Given the description of an element on the screen output the (x, y) to click on. 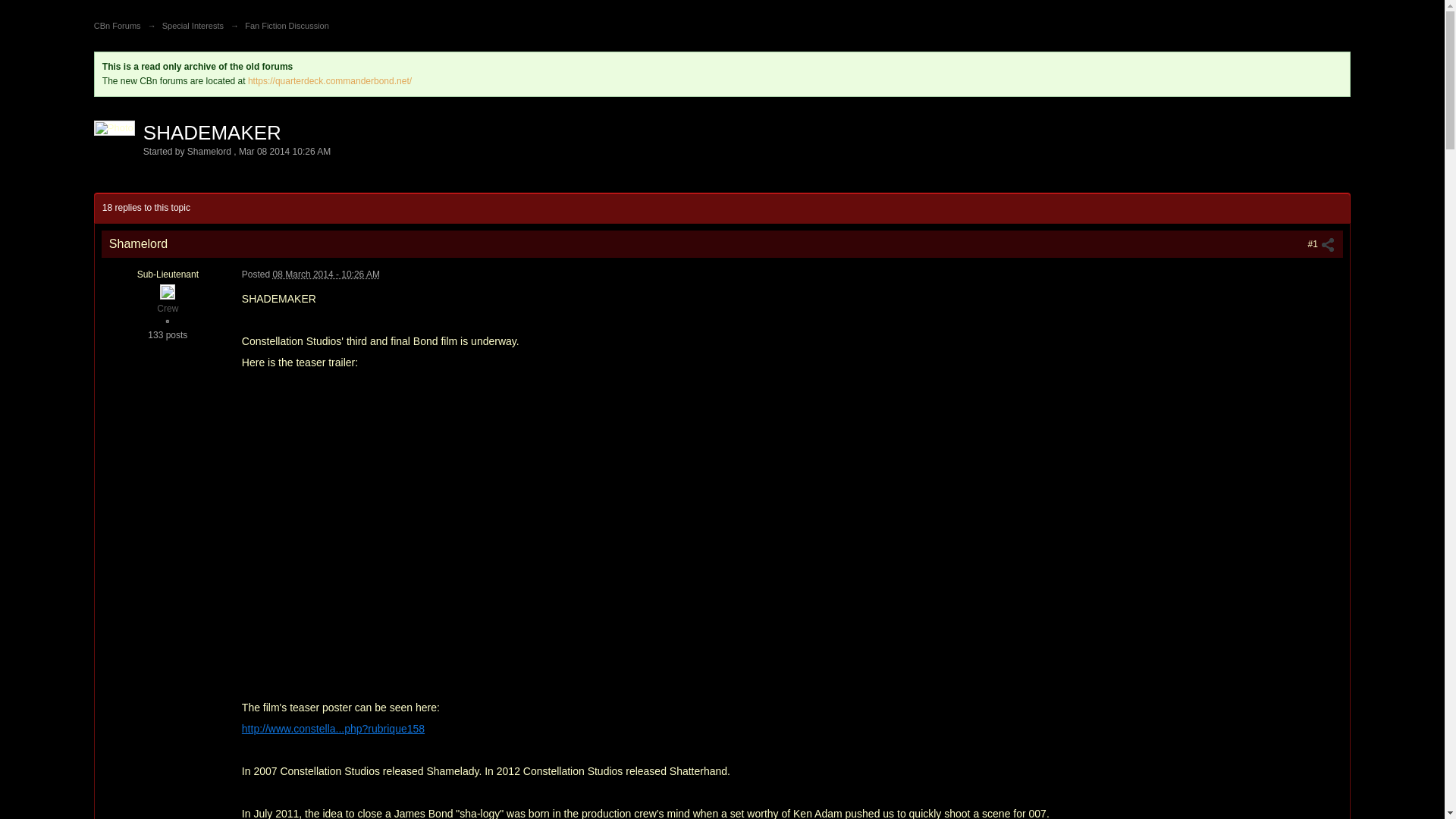
Fan Fiction Discussion (286, 25)
Return to Fan Fiction Discussion (286, 25)
Return to Special Interests (192, 25)
External link (333, 728)
Go to community index (111, 5)
CBn Forums (117, 25)
Special Interests (192, 25)
